Given the description of an element on the screen output the (x, y) to click on. 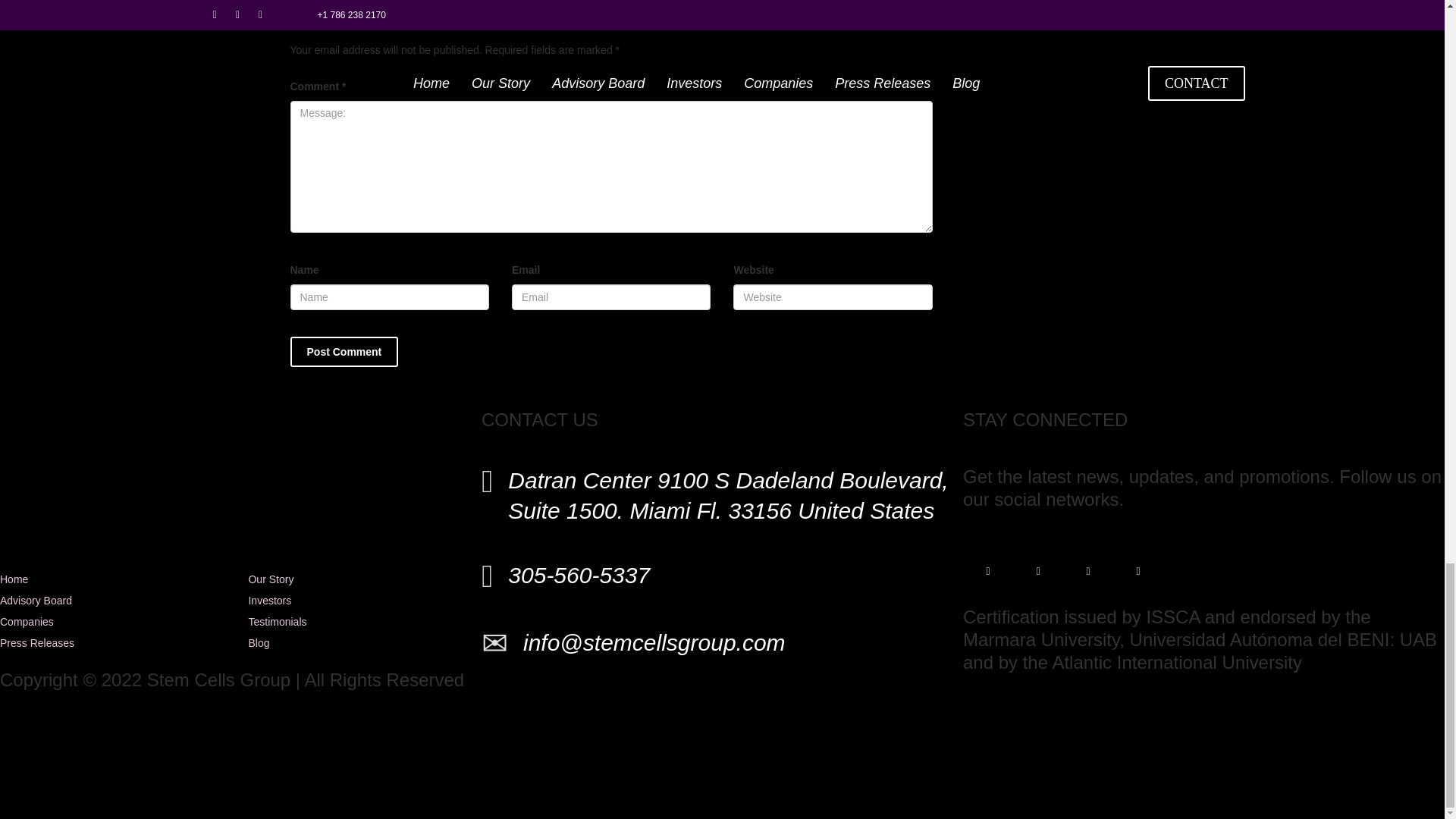
Post Comment (343, 351)
Global-Stem-Cells-Group-Logo-White (240, 477)
Post Comment (343, 351)
Home (13, 579)
